Given the description of an element on the screen output the (x, y) to click on. 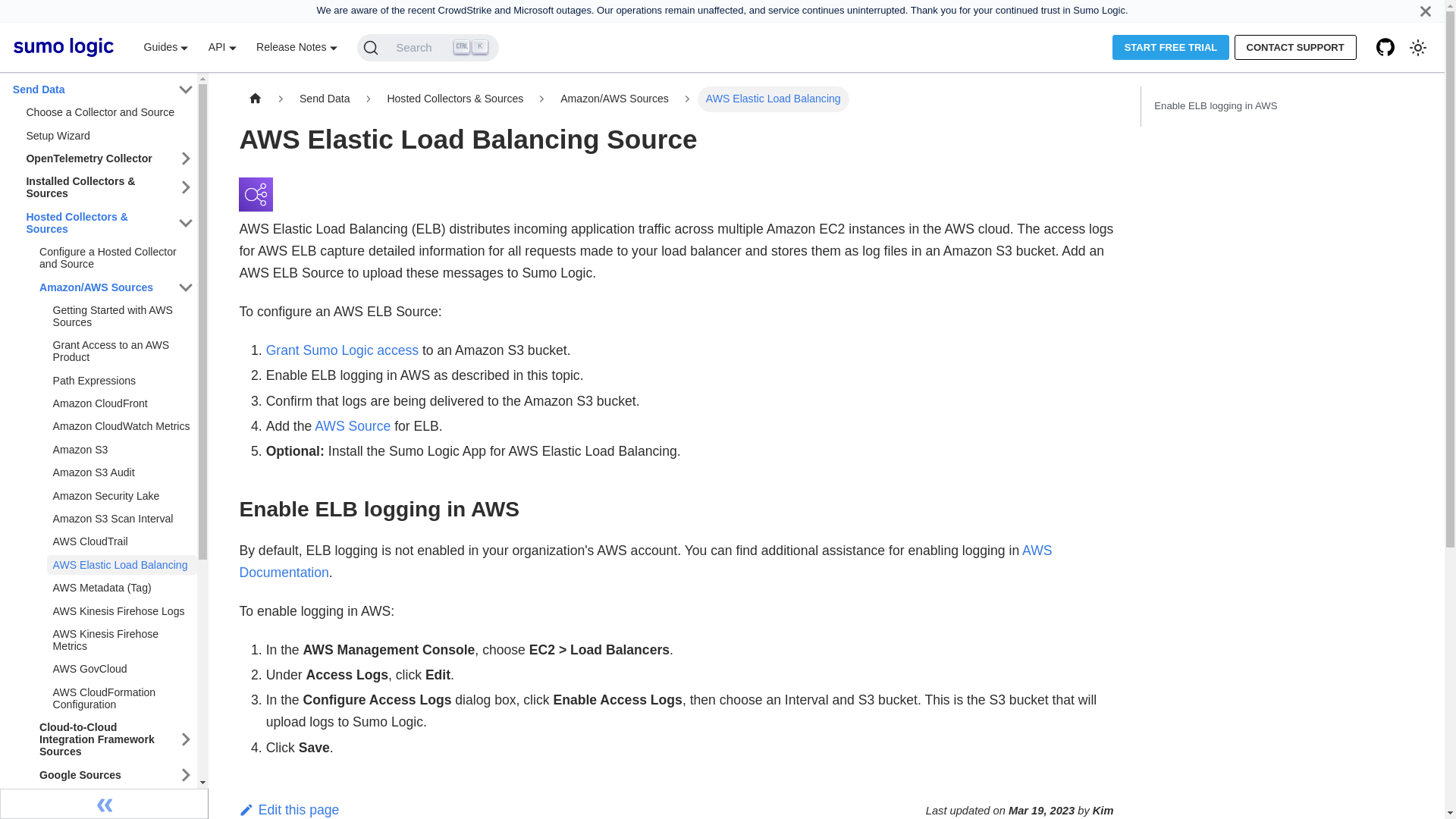
Guides (165, 46)
Choose a Collector and Source (108, 112)
Enable ELB logging in AWS (1276, 106)
Release Notes (296, 46)
OpenTelemetry Collector (97, 158)
Setup Wizard (108, 135)
API (222, 46)
Collapse sidebar (104, 803)
Send Data (90, 89)
